Given the description of an element on the screen output the (x, y) to click on. 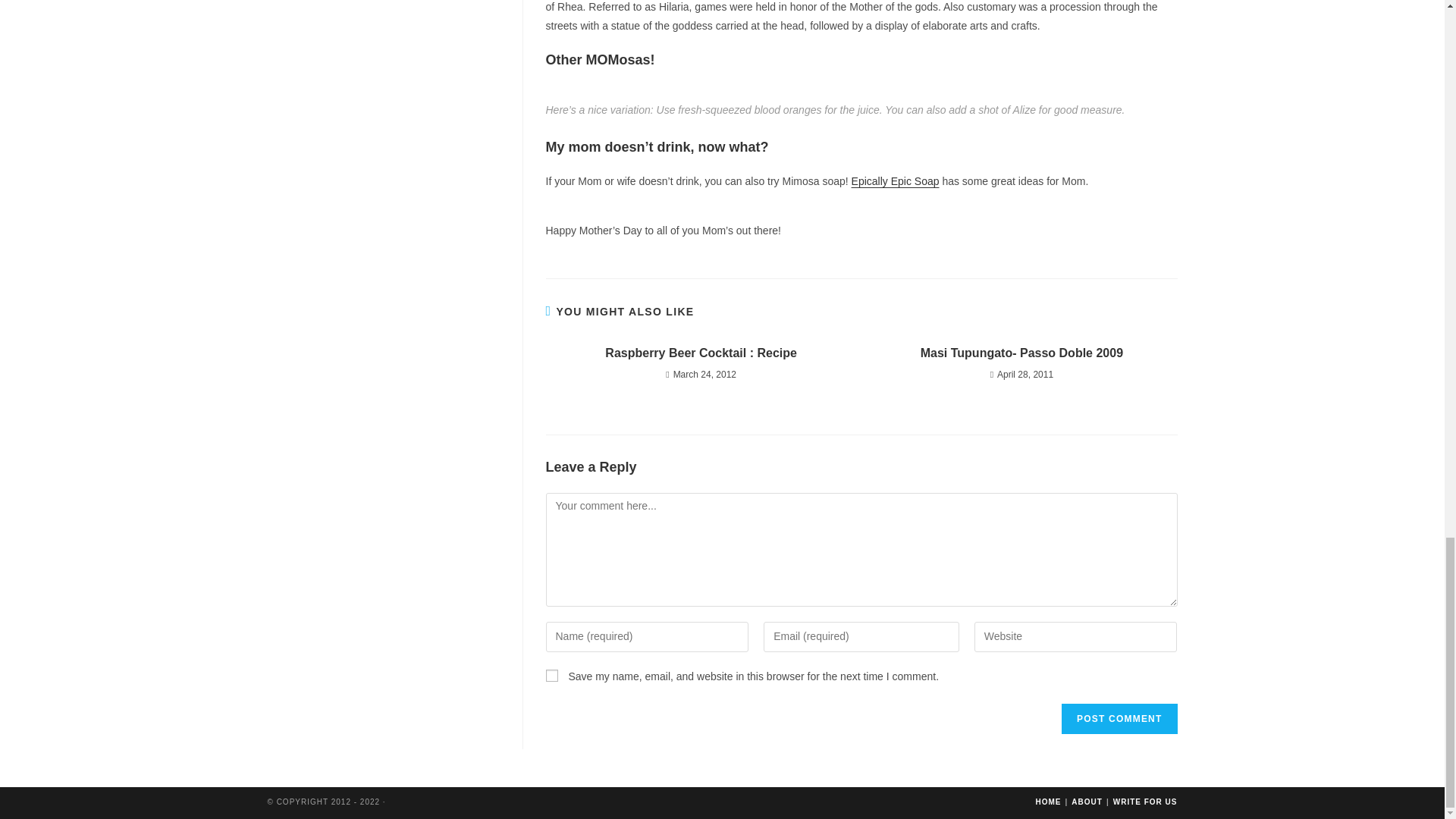
ABOUT (1086, 801)
Epically Epic Soap (895, 181)
Post Comment (1118, 718)
yes (551, 675)
Post Comment (1118, 718)
Raspberry Beer Cocktail : Recipe (700, 352)
HOME (1048, 801)
Masi Tupungato- Passo Doble 2009 (1021, 352)
WRITE FOR US (1145, 801)
